Given the description of an element on the screen output the (x, y) to click on. 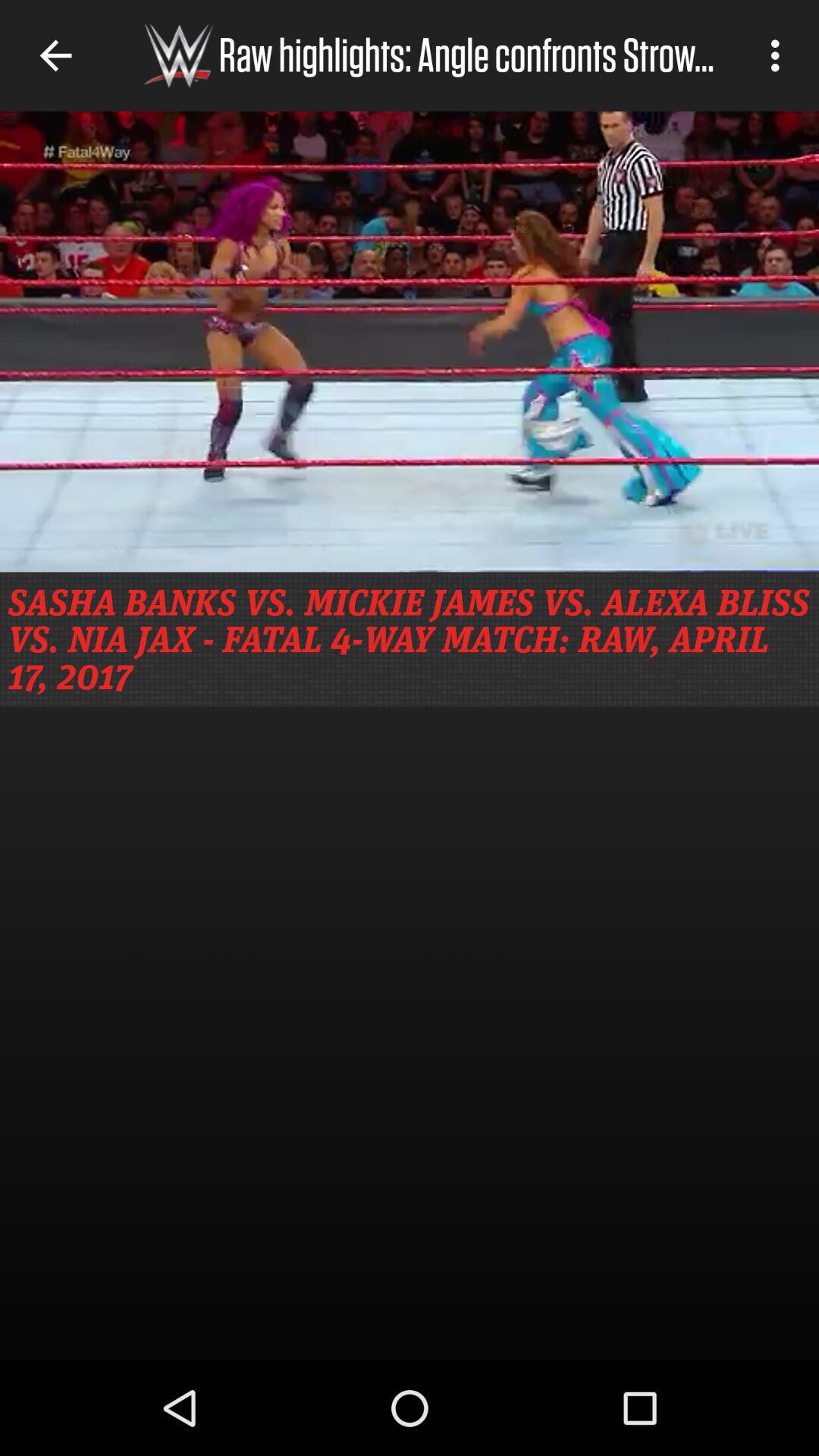
choose sasha banks vs icon (409, 639)
